Given the description of an element on the screen output the (x, y) to click on. 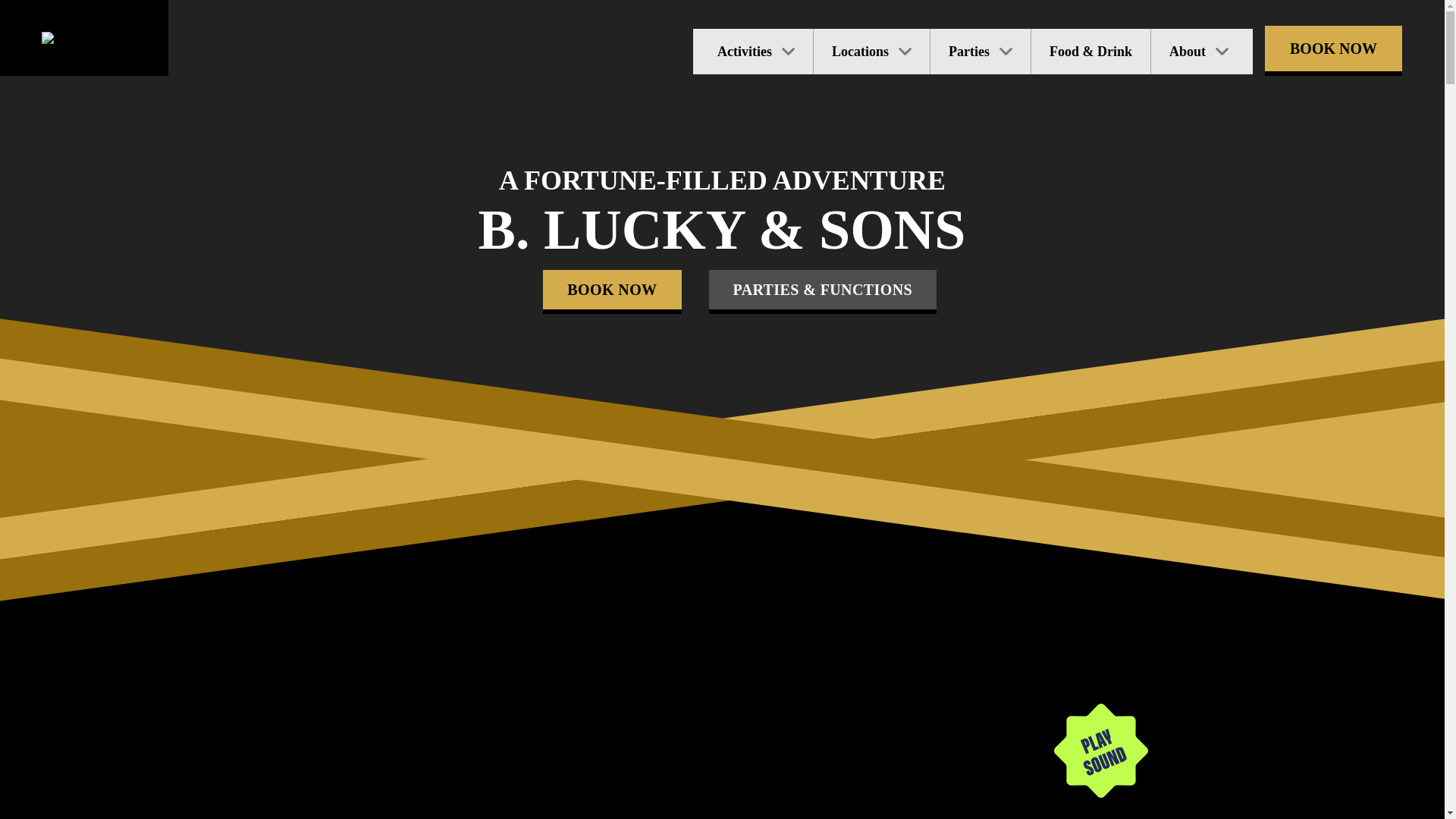
Locations Element type: text (871, 51)
Activities Element type: text (752, 51)
BOOK NOW Element type: text (611, 289)
BOOK NOW Element type: text (1333, 48)
PARTIES & FUNCTIONS Element type: text (822, 289)
About Element type: text (1201, 51)
Food & Drink Element type: text (1090, 51)
Parties Element type: text (980, 51)
